Given the description of an element on the screen output the (x, y) to click on. 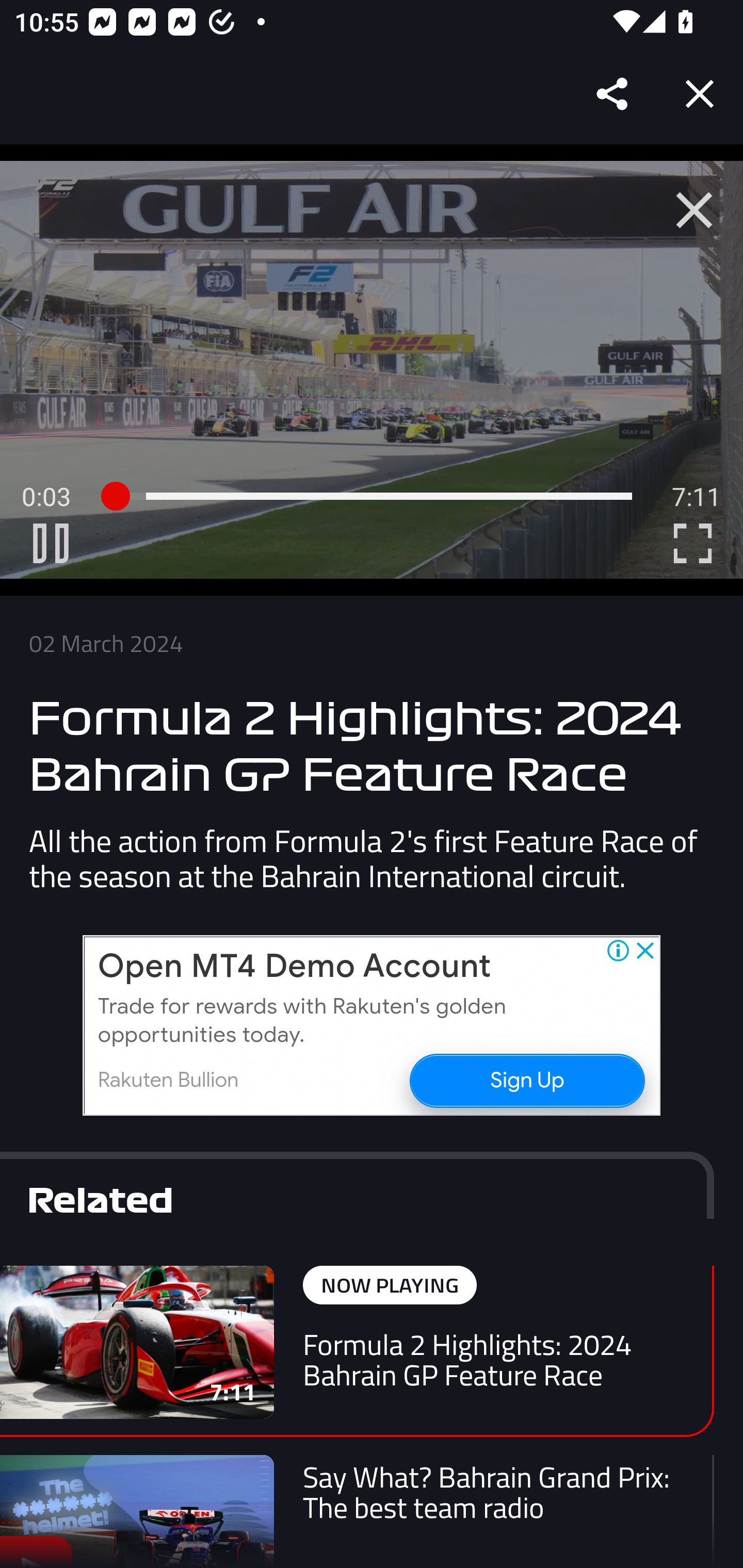
Share (612, 93)
Close (699, 93)
 Close (693, 210)
B Pause (50, 543)
C Enter Fullscreen (692, 543)
Open MT4 Demo Account (294, 966)
Sign Up (526, 1080)
Rakuten Bullion (168, 1080)
